Given the description of an element on the screen output the (x, y) to click on. 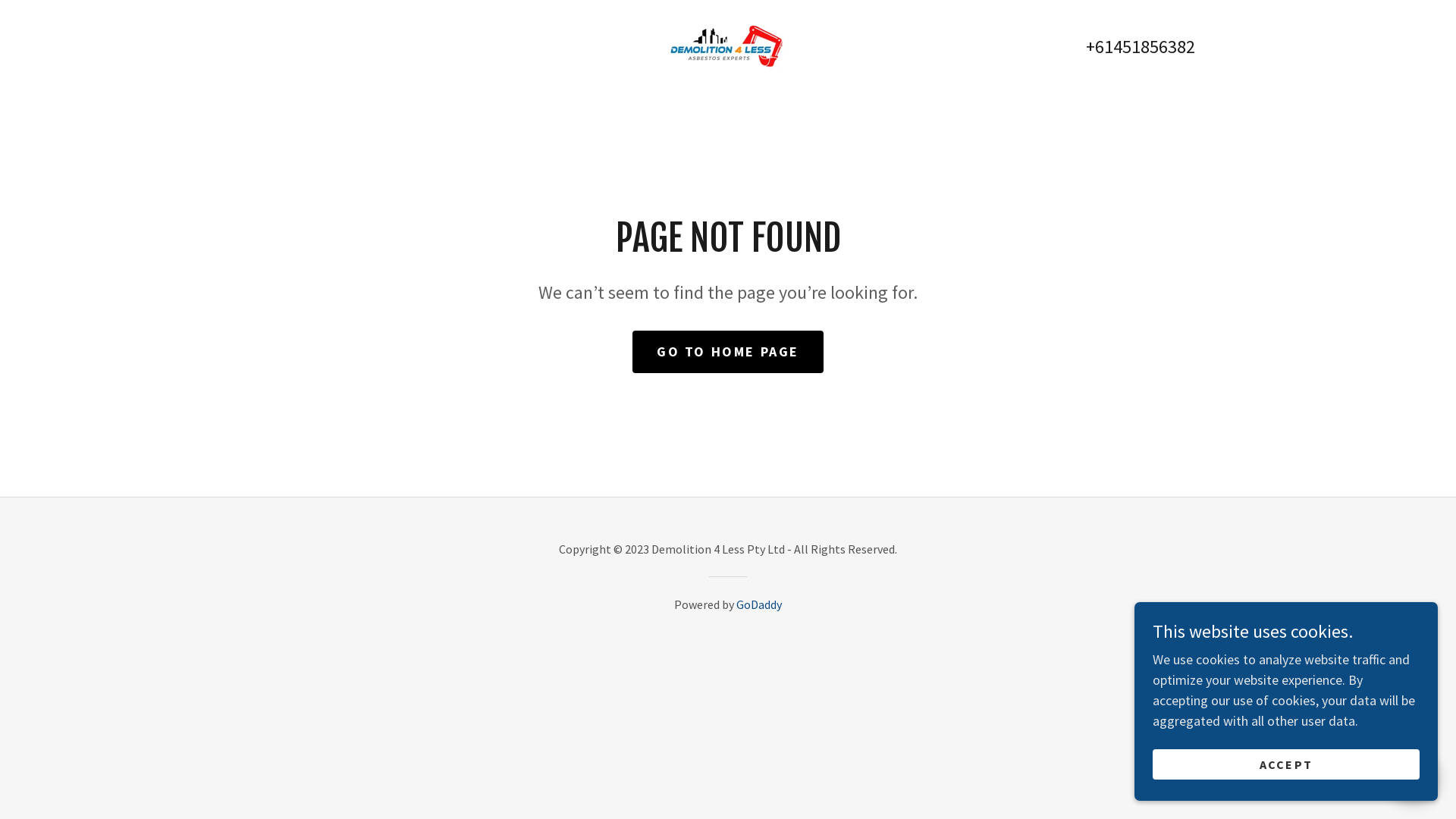
Demolition 4 Less Pty Ltd  Element type: hover (727, 44)
GoDaddy Element type: text (758, 603)
+61451856382 Element type: text (1140, 46)
ACCEPT Element type: text (1285, 764)
GO TO HOME PAGE Element type: text (727, 351)
